Given the description of an element on the screen output the (x, y) to click on. 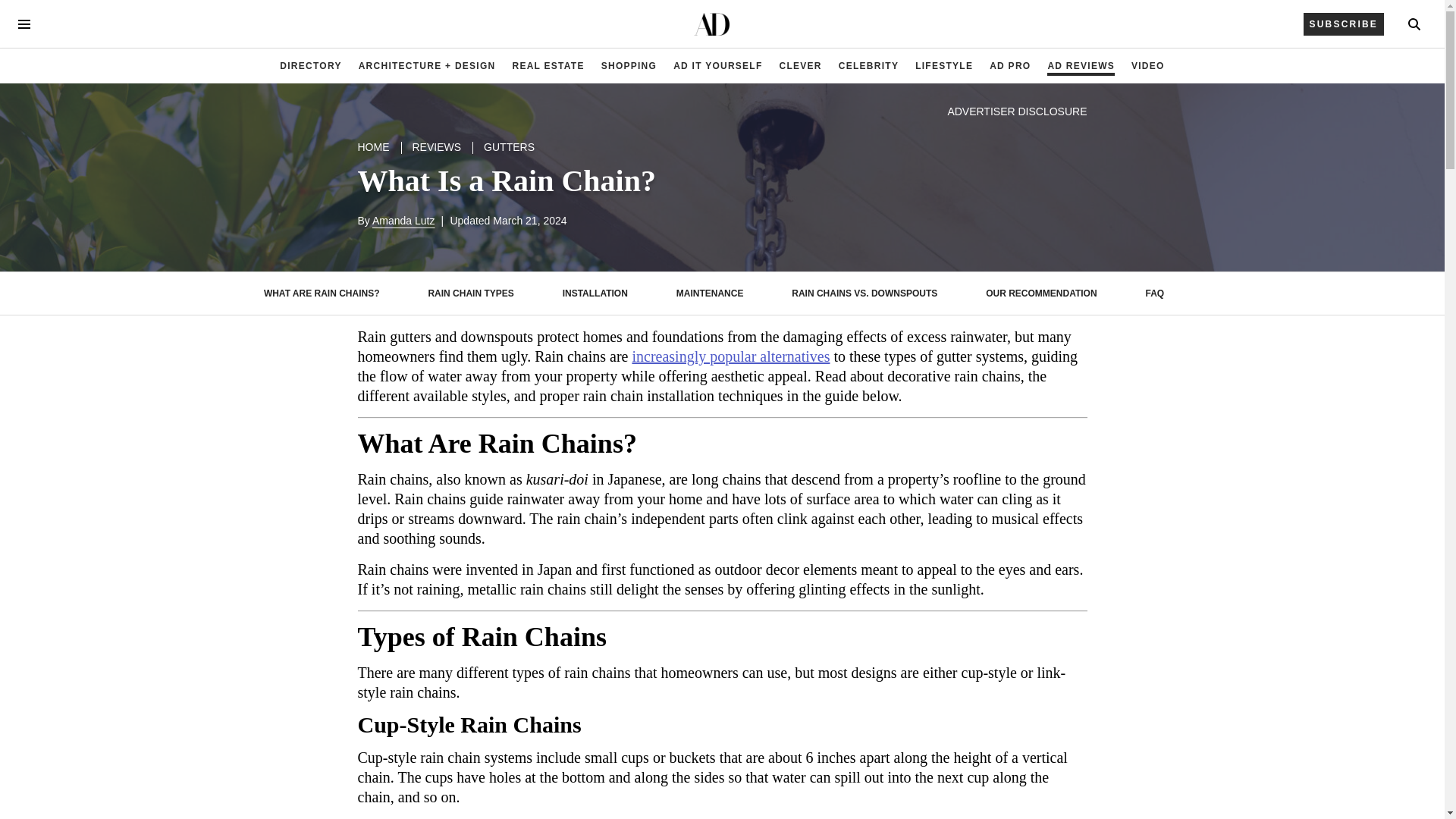
AD PRO (1010, 66)
SUBSCRIBE (1343, 23)
ADVERTISER DISCLOSURE (1016, 111)
SEARCH (1414, 23)
CLEVER (800, 66)
DIRECTORY (310, 66)
SEARCH (1414, 24)
SHOPPING (628, 66)
Open Menu (24, 23)
REAL ESTATE (547, 66)
AD REVIEWS (1080, 66)
LIFESTYLE (943, 66)
AD IT YOURSELF (717, 66)
HOME (374, 146)
VIDEO (1147, 66)
